Given the description of an element on the screen output the (x, y) to click on. 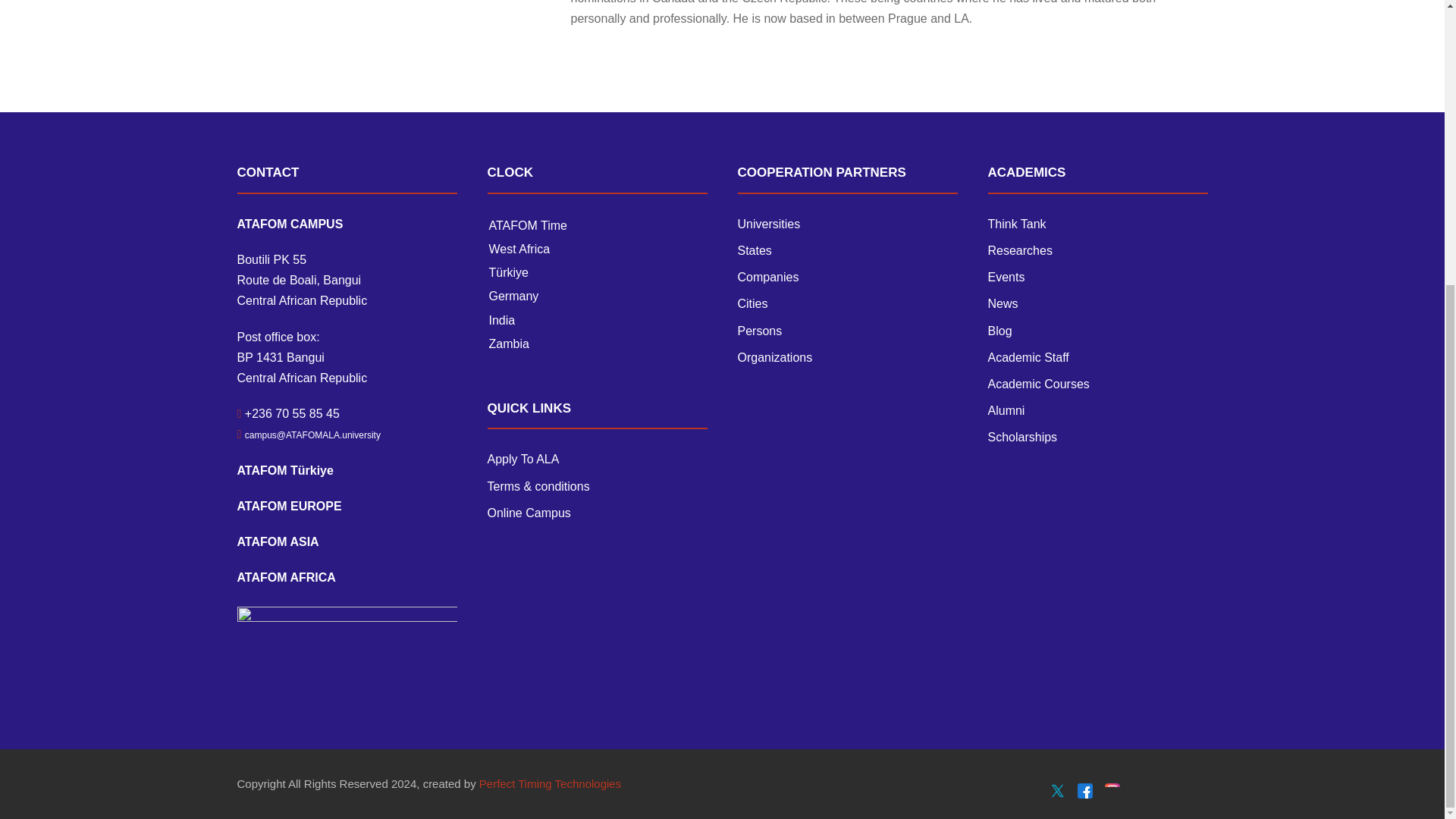
Blog (999, 330)
Online Campus (528, 512)
Organizations (774, 357)
Think Tank (1016, 223)
States (753, 250)
Academic Staff (1027, 357)
Academic Courses (1038, 383)
ATAFOM AFRICA (284, 576)
ATAFOM EUROPE (287, 505)
Companies (766, 277)
Events (1006, 277)
Persons (758, 330)
Cities (751, 303)
ATAFOM ASIA (276, 541)
Universities (767, 223)
